Given the description of an element on the screen output the (x, y) to click on. 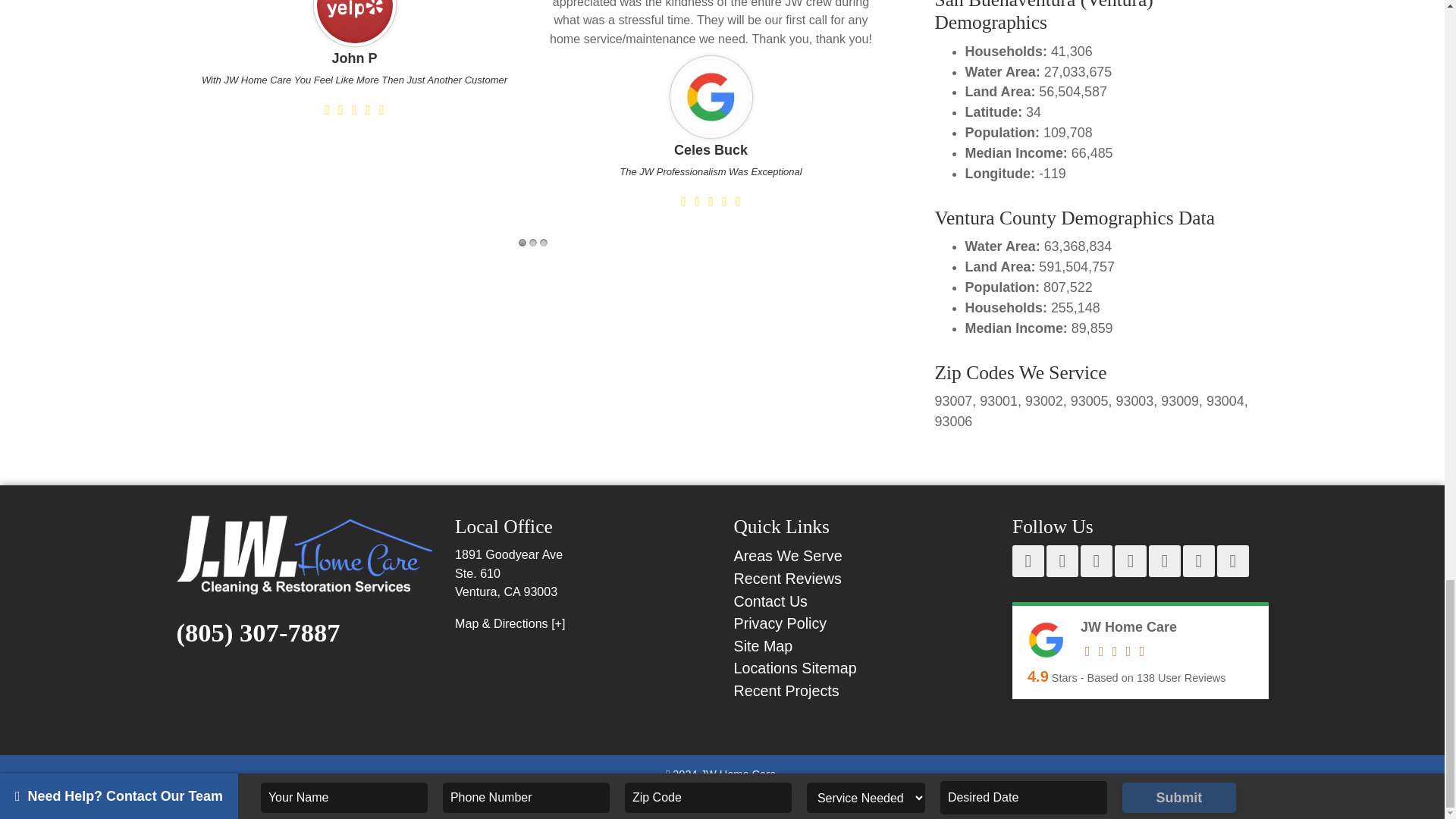
Facebook (1027, 561)
LinkedIn (1198, 561)
Instagram (1164, 561)
Yelp (1096, 561)
Twitter (1131, 561)
